Given the description of an element on the screen output the (x, y) to click on. 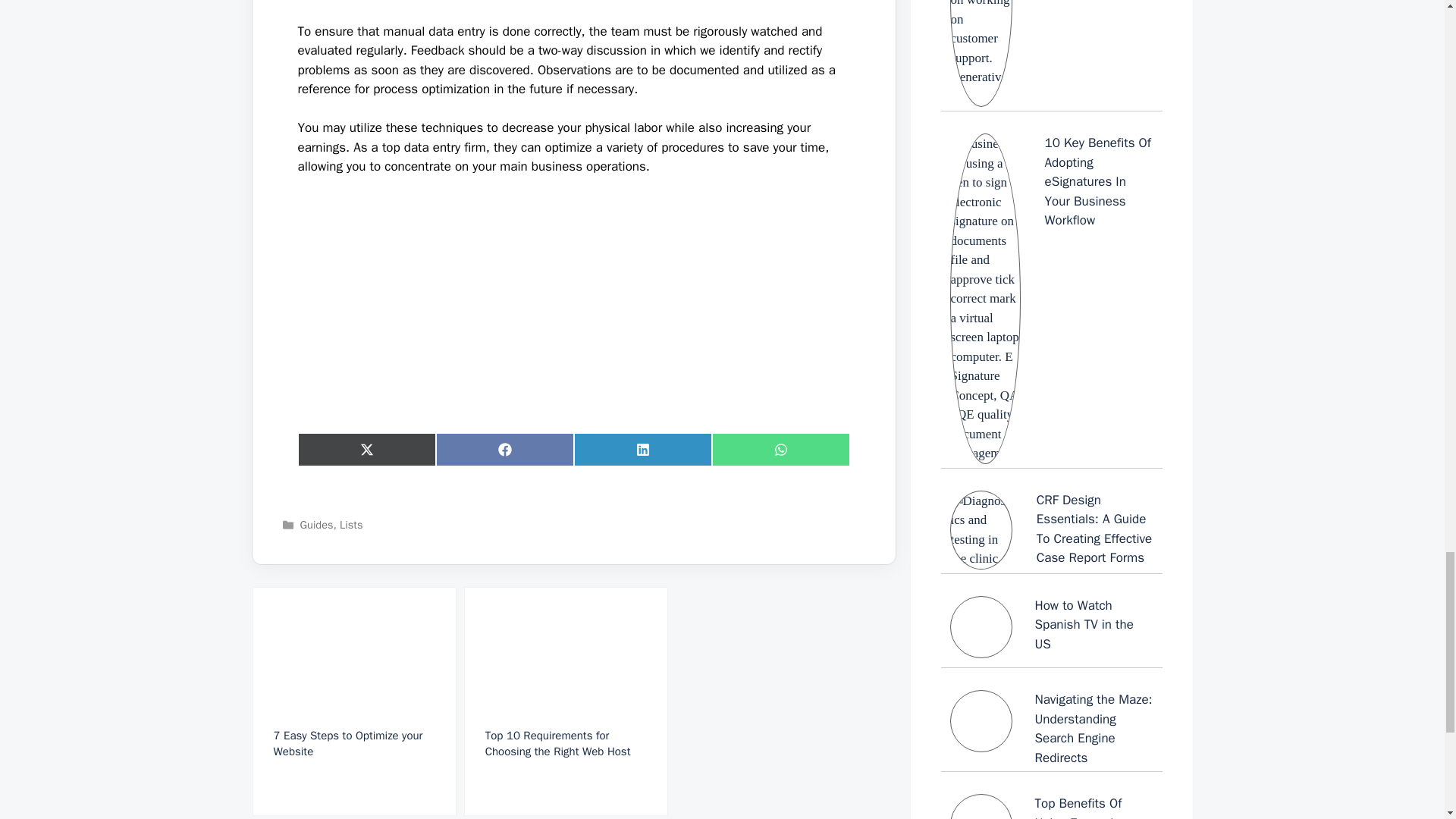
SHARE ON LINKEDIN (642, 449)
SHARE ON WHATSAPP (779, 449)
Guides (316, 524)
Top 10 Requirements for Choosing the Right Web Host (566, 701)
7 Easy Steps to Optimize your Website (353, 701)
7 Easy Steps to Optimize your Website (353, 701)
Top 10 Requirements for Choosing the Right Web Host (566, 701)
Lists (350, 524)
SHARE ON FACEBOOK (504, 449)
